Given the description of an element on the screen output the (x, y) to click on. 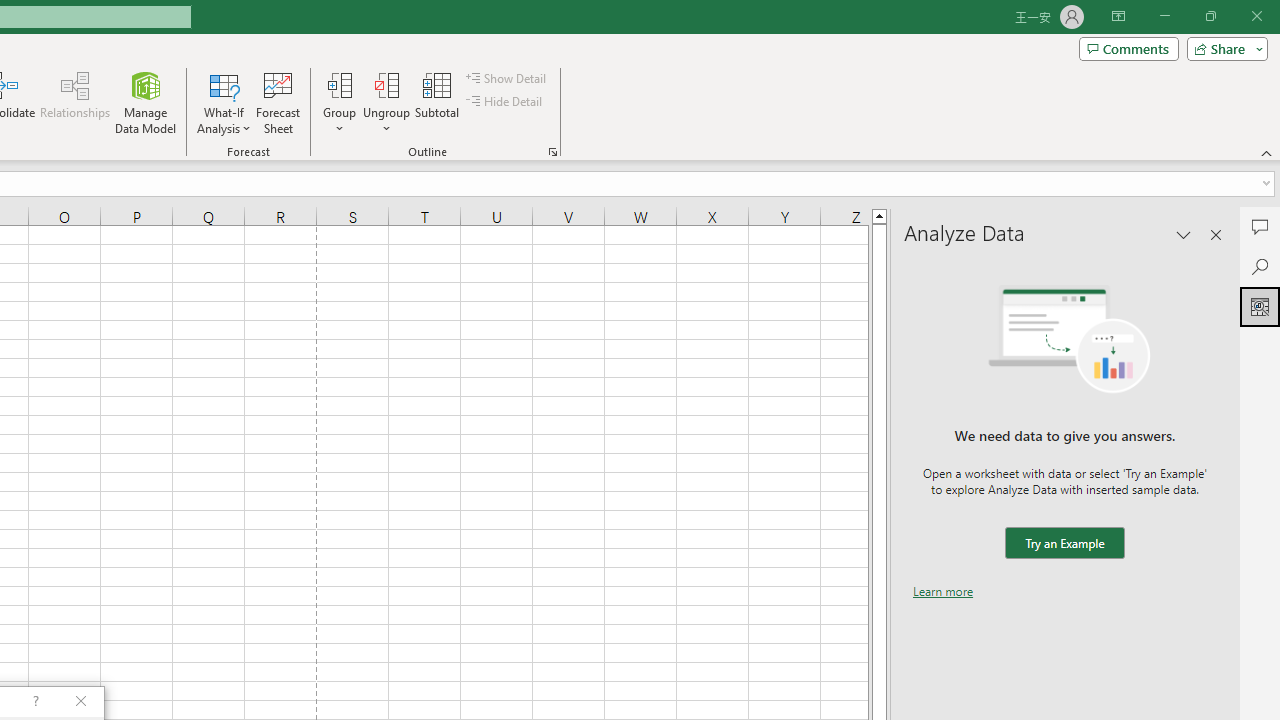
Learn more (943, 591)
Hide Detail (505, 101)
Search (1260, 266)
Show Detail (507, 78)
